Given the description of an element on the screen output the (x, y) to click on. 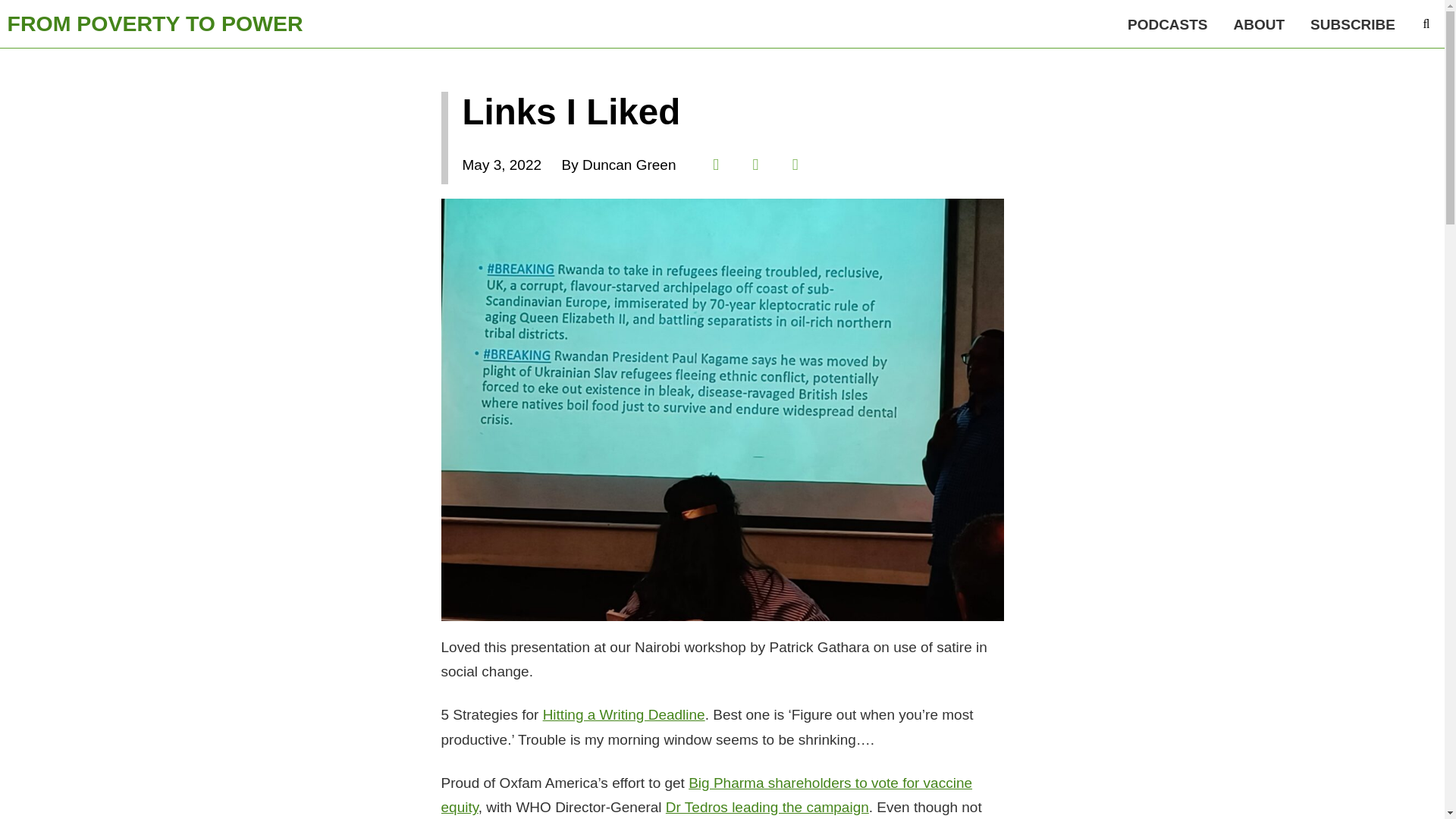
Dr Tedros leading the campaign (767, 806)
FROM POVERTY TO POWER (154, 23)
Hitting a Writing Deadline (623, 714)
PODCASTS (1168, 24)
Big Pharma shareholders to vote for vaccine equity (706, 794)
SUBSCRIBE (1352, 24)
ABOUT (1259, 24)
